Given the description of an element on the screen output the (x, y) to click on. 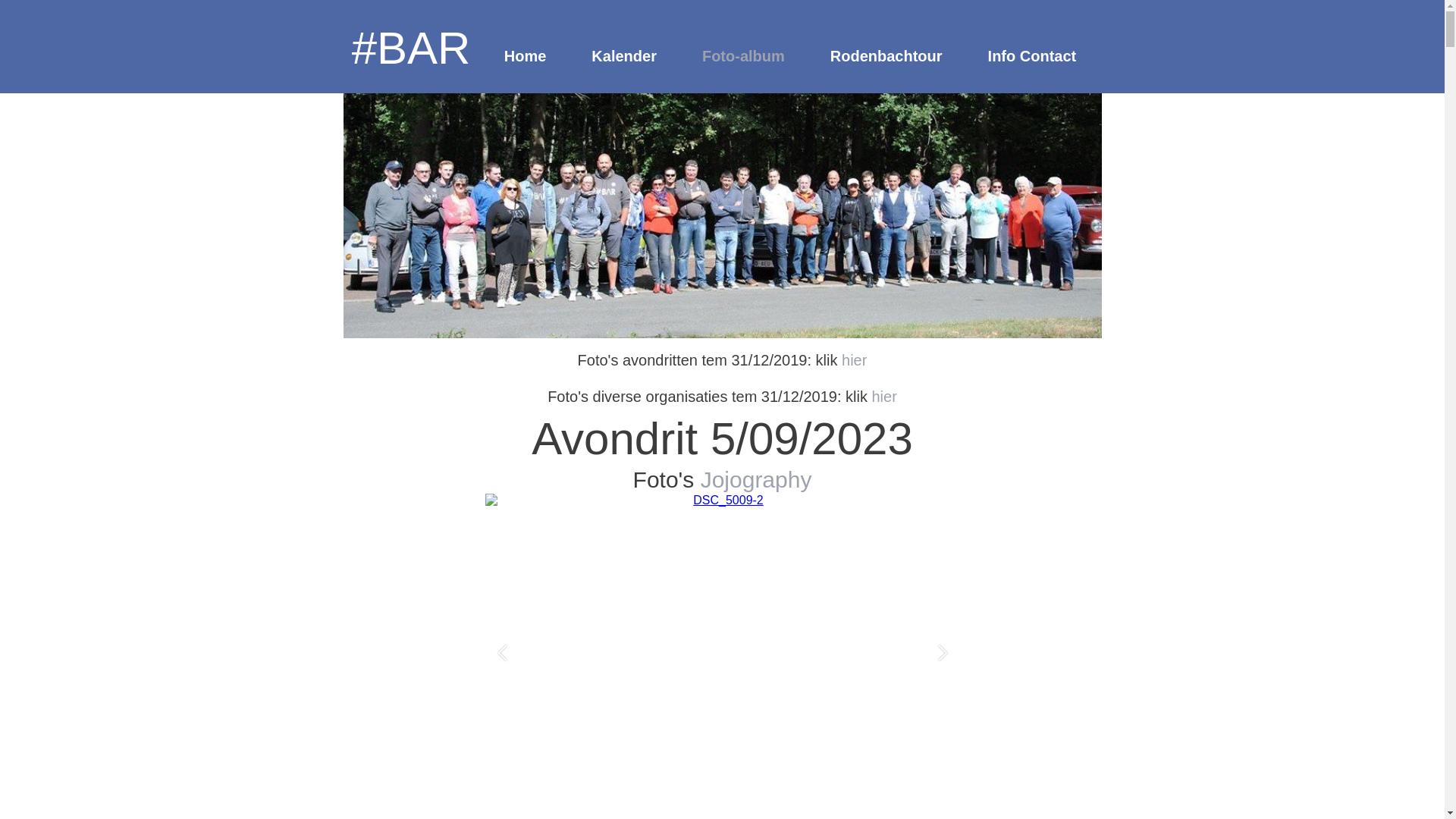
Info Contact Element type: text (1032, 57)
hier Element type: text (853, 359)
DSC_4755-2 Element type: hover (722, 653)
Kalender Element type: text (623, 57)
Rodenbachtour Element type: text (886, 57)
Home Element type: text (525, 57)
DSC_4757-2 Element type: hover (247, 653)
hier Element type: text (884, 396)
Foto-album Element type: text (743, 57)
Jojography Element type: text (756, 479)
